Given the description of an element on the screen output the (x, y) to click on. 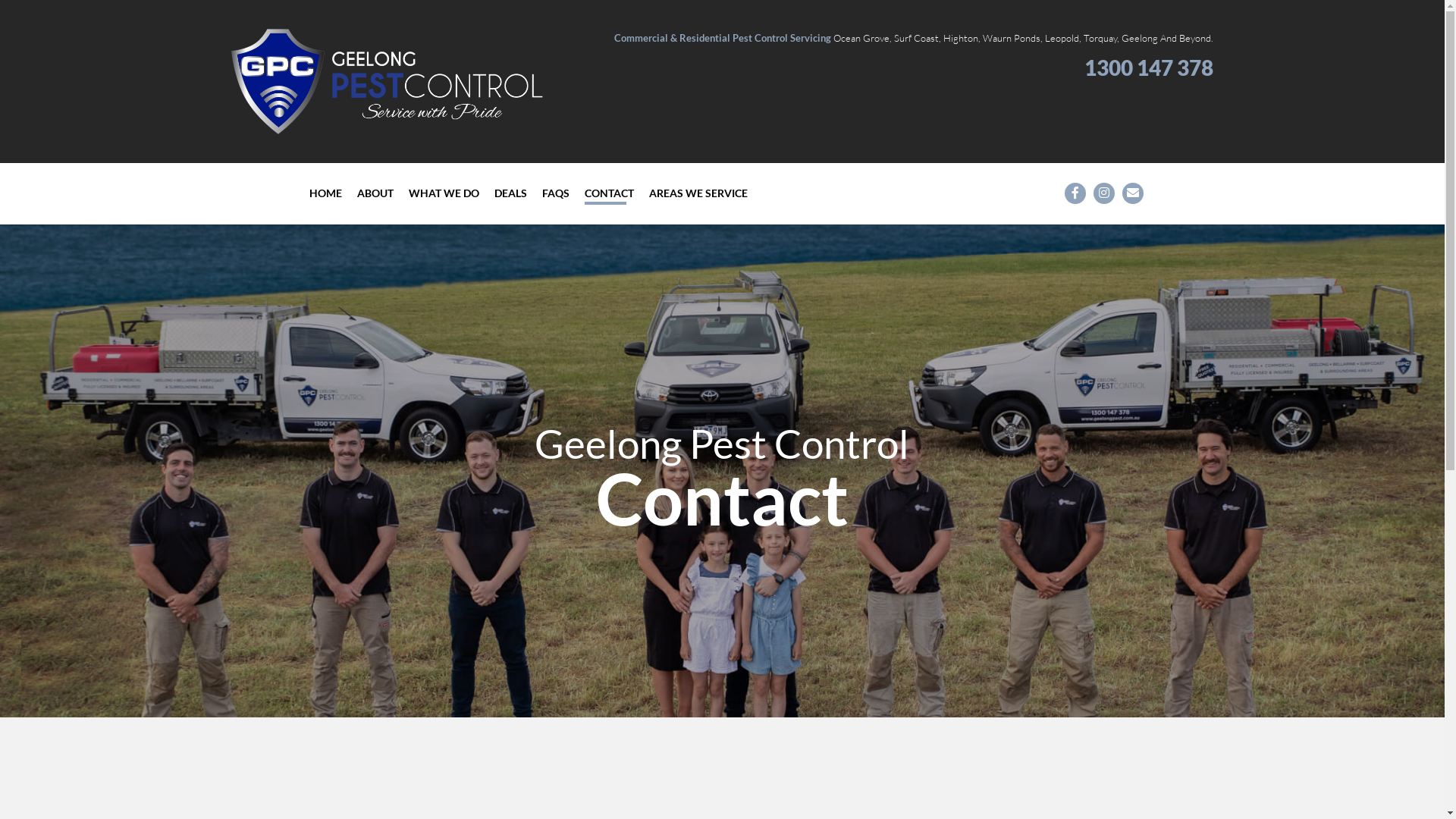
AREAS WE SERVICE Element type: text (698, 193)
Commercial & Residential Pest Control Servicing Element type: text (722, 37)
DEALS Element type: text (510, 193)
Servicing Element type: text (476, 771)
1300 147 378 Element type: text (1069, 758)
HOME Element type: text (325, 193)
WHAT WE DO Element type: text (442, 193)
FAQS Element type: text (554, 193)
CONTACT Element type: text (608, 193)
1300 147 378 Element type: text (1148, 67)
ABOUT Element type: text (374, 193)
